Given the description of an element on the screen output the (x, y) to click on. 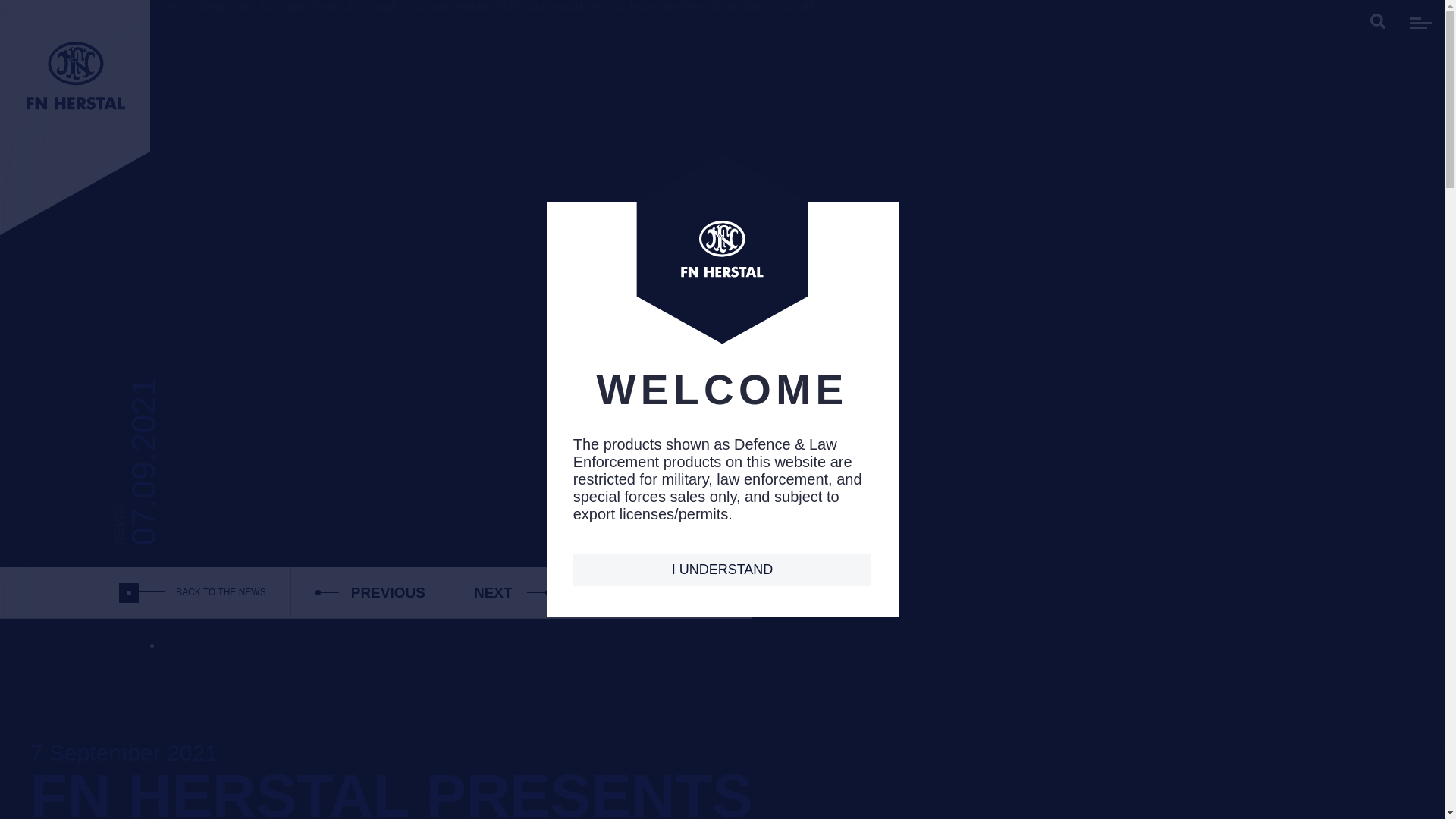
Back to the news (221, 592)
Next (512, 592)
I UNDERSTAND (722, 569)
Previous (370, 592)
Close (15, 20)
